Given the description of an element on the screen output the (x, y) to click on. 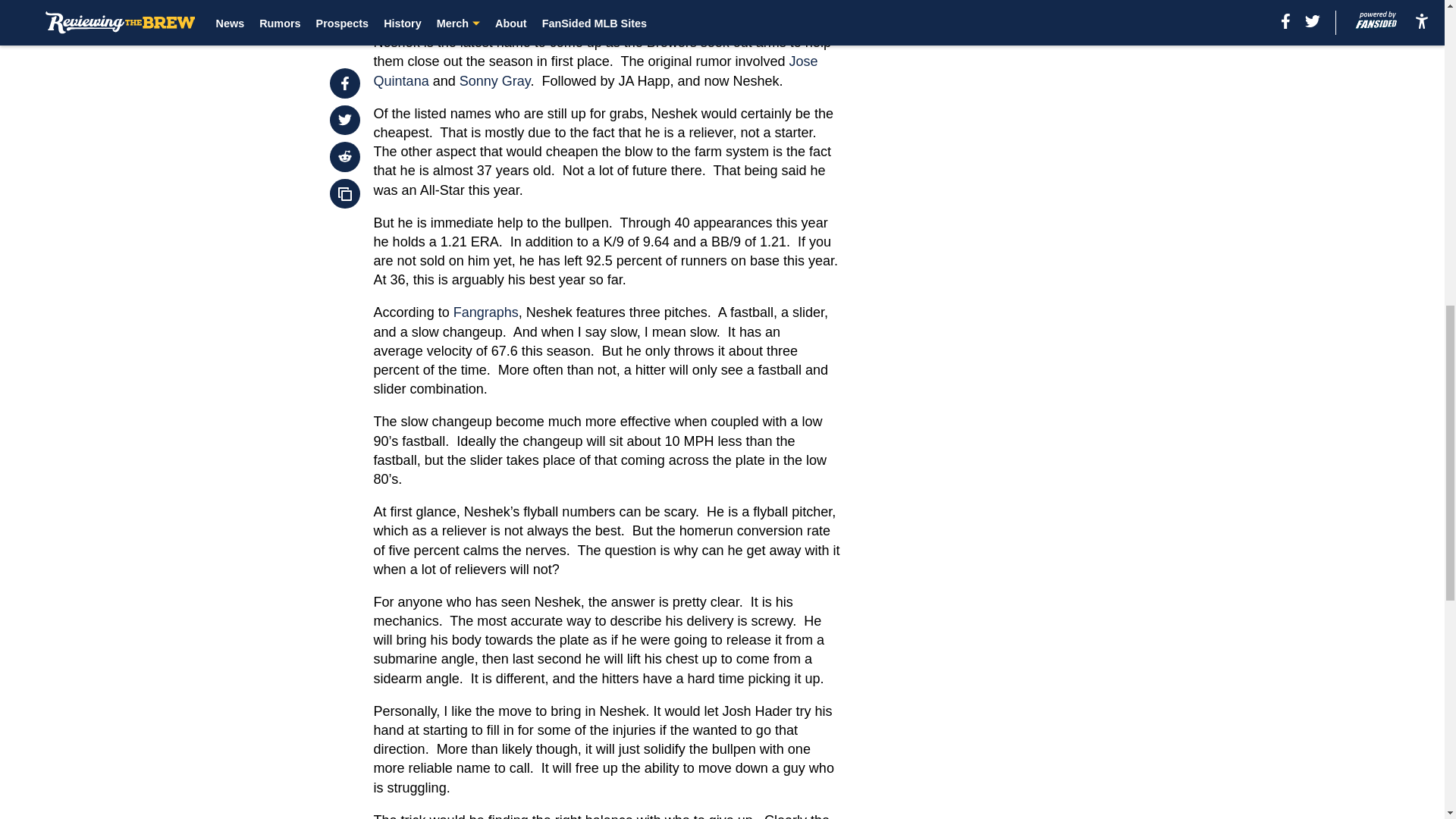
Fangraphs (485, 312)
Sonny Gray (495, 80)
Jose Quintana (596, 70)
Milwaukee Brewers (592, 8)
